Given the description of an element on the screen output the (x, y) to click on. 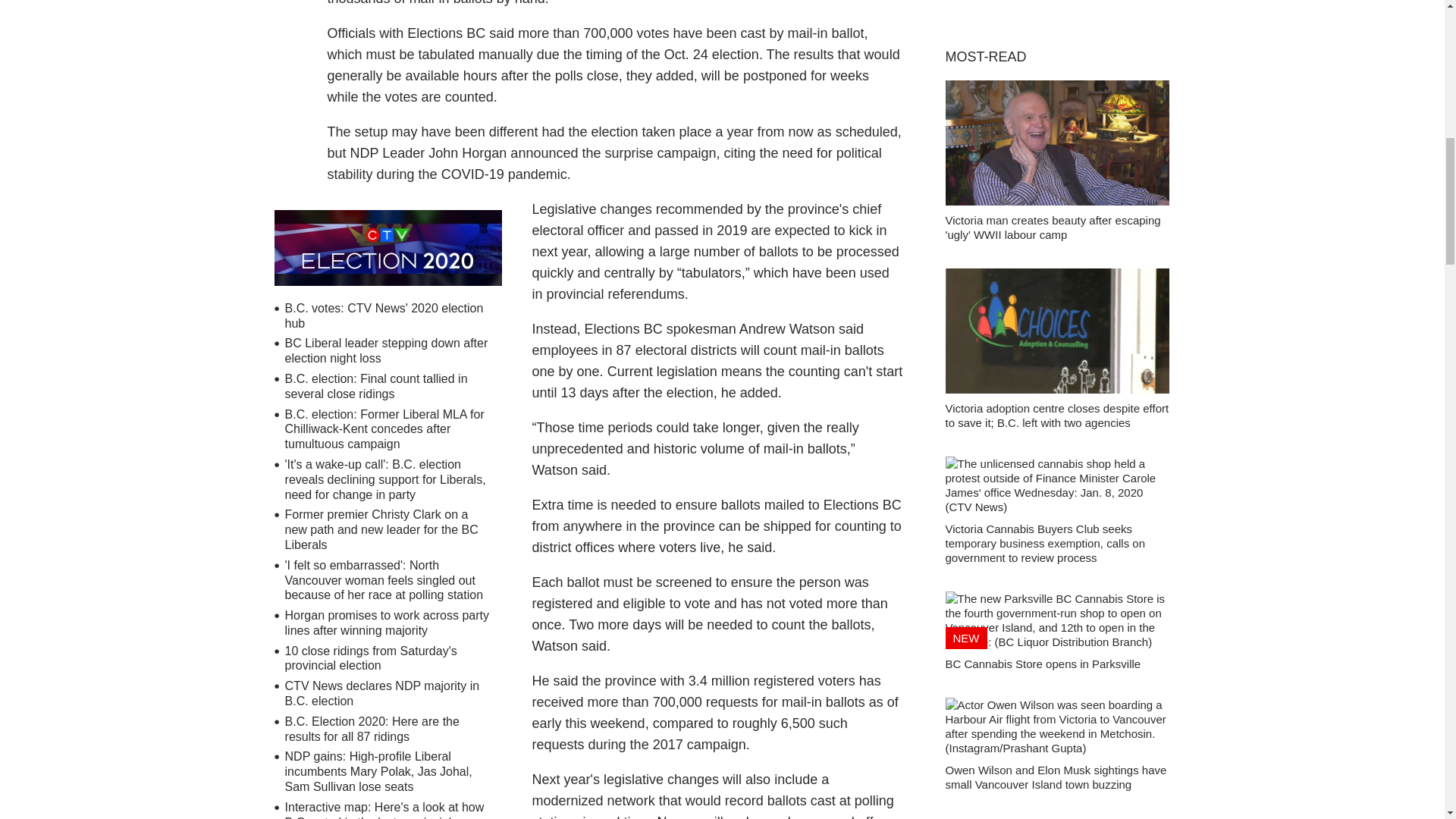
BC Liberal leader stepping down after election night loss (386, 350)
10 close ridings from Saturday's provincial election (371, 658)
B.C. Election 2020: Here are the results for all 87 ridings (372, 728)
10 close ridings from Saturday's provincial election  (371, 658)
